Given the description of an element on the screen output the (x, y) to click on. 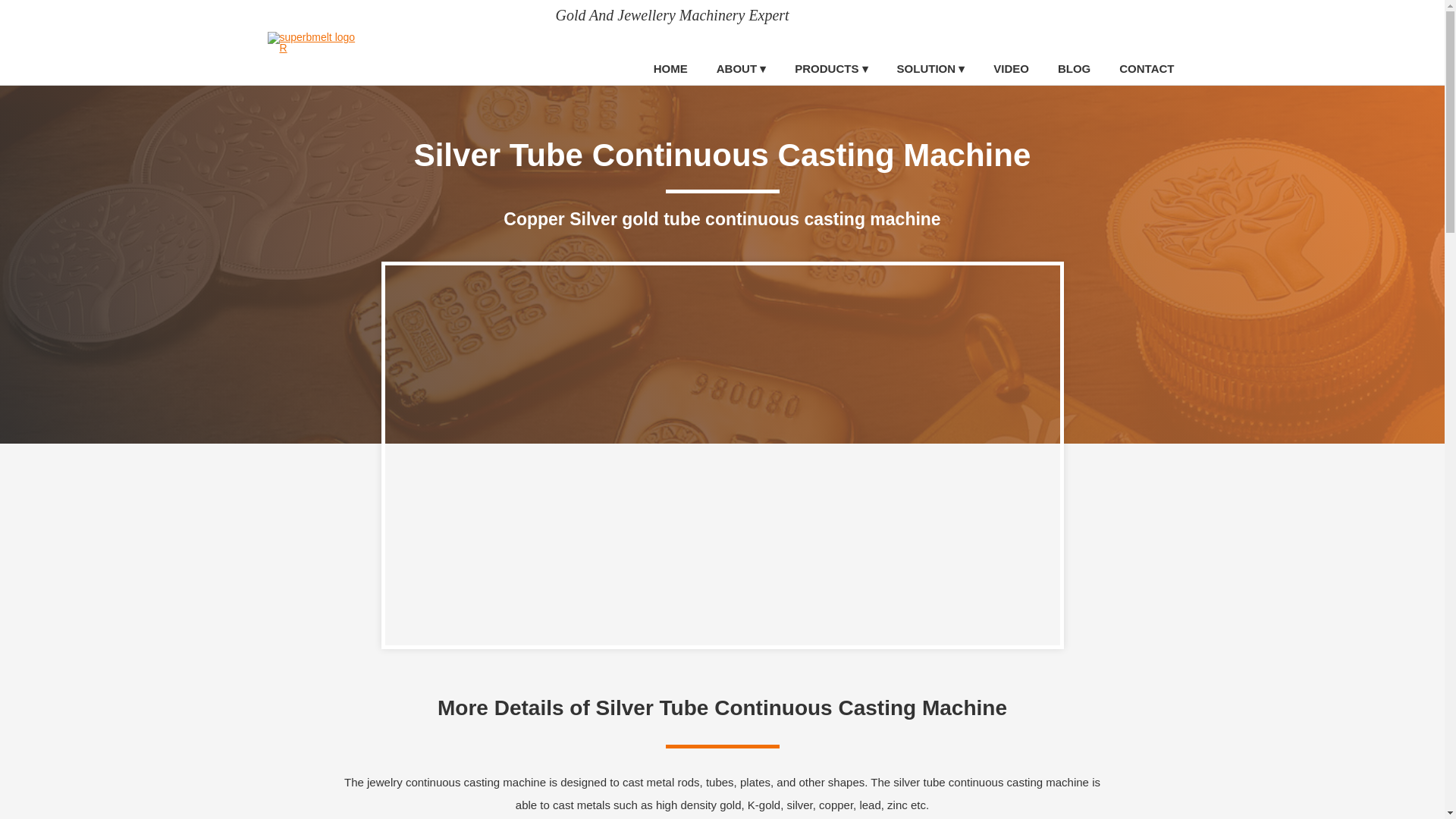
HOME (670, 69)
